Given the description of an element on the screen output the (x, y) to click on. 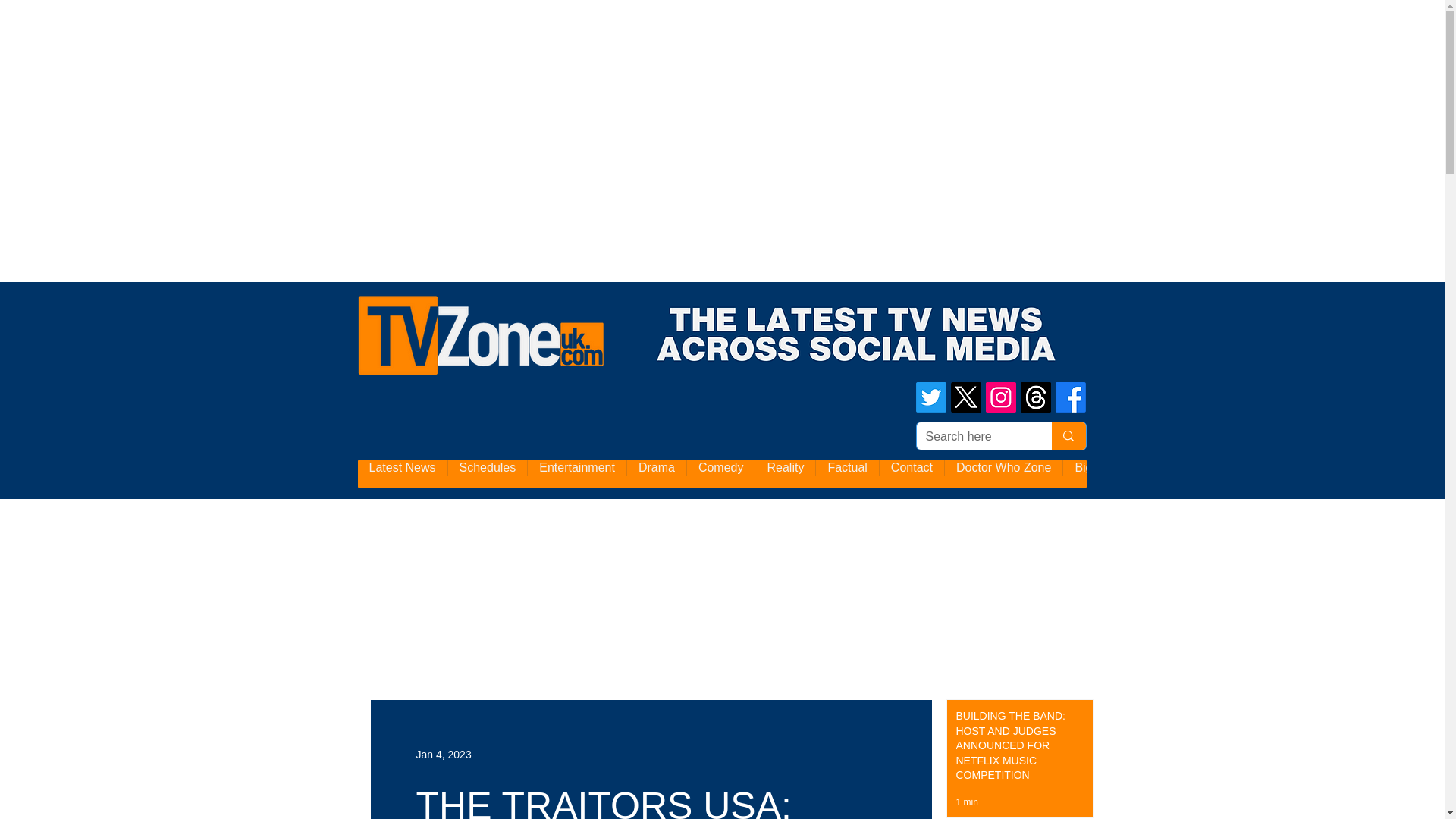
Factual (846, 473)
1 min (965, 801)
Advertisement (275, 33)
Jan 4, 2023 (442, 753)
Latest News (402, 473)
Doctor Who Zone (1002, 473)
Big Brother Zone (1119, 473)
Schedules (486, 473)
